Given the description of an element on the screen output the (x, y) to click on. 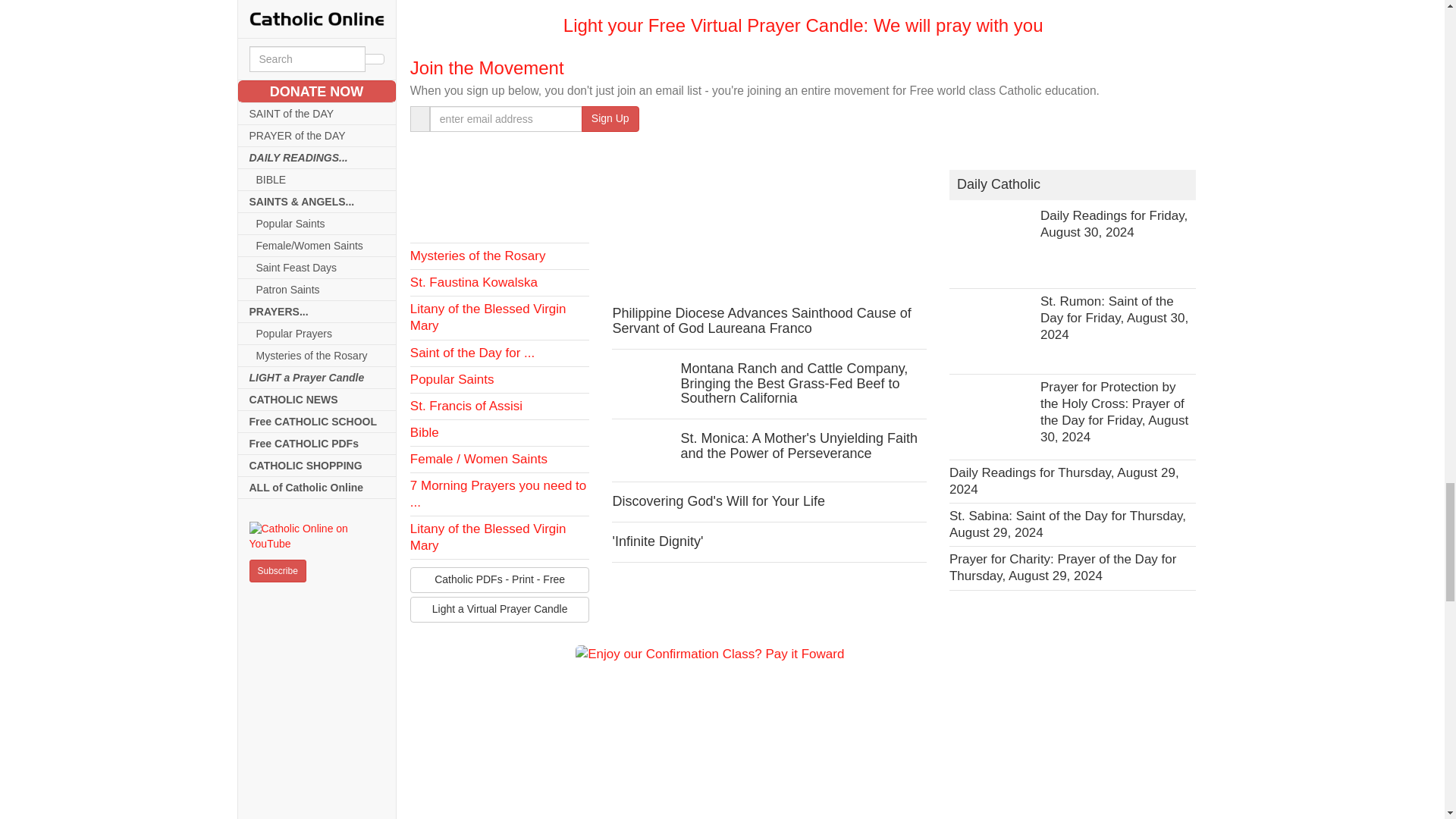
Sign Up (609, 118)
Daily Reading (499, 200)
